Given the description of an element on the screen output the (x, y) to click on. 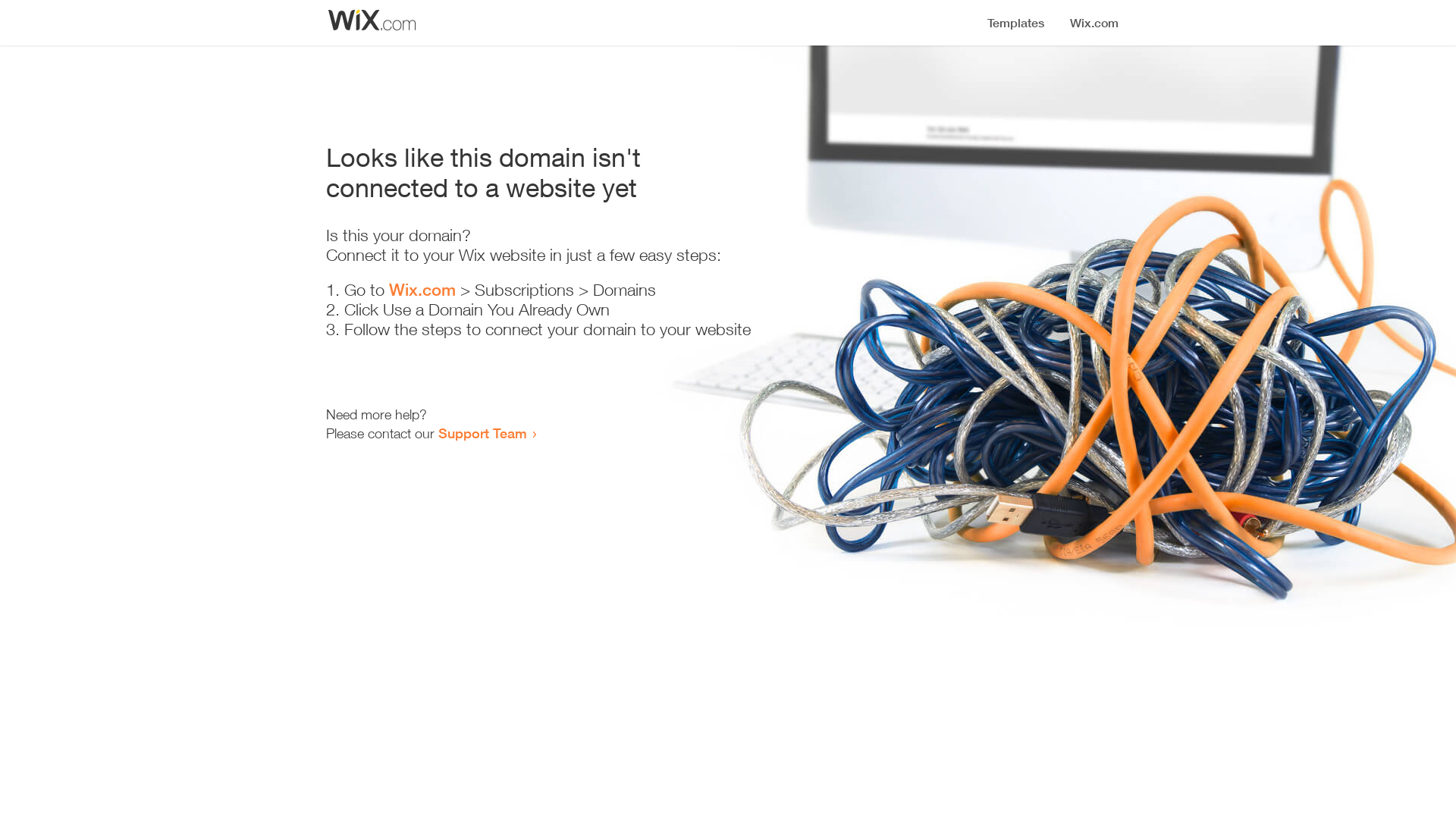
Wix.com Element type: text (422, 289)
Support Team Element type: text (482, 432)
